Given the description of an element on the screen output the (x, y) to click on. 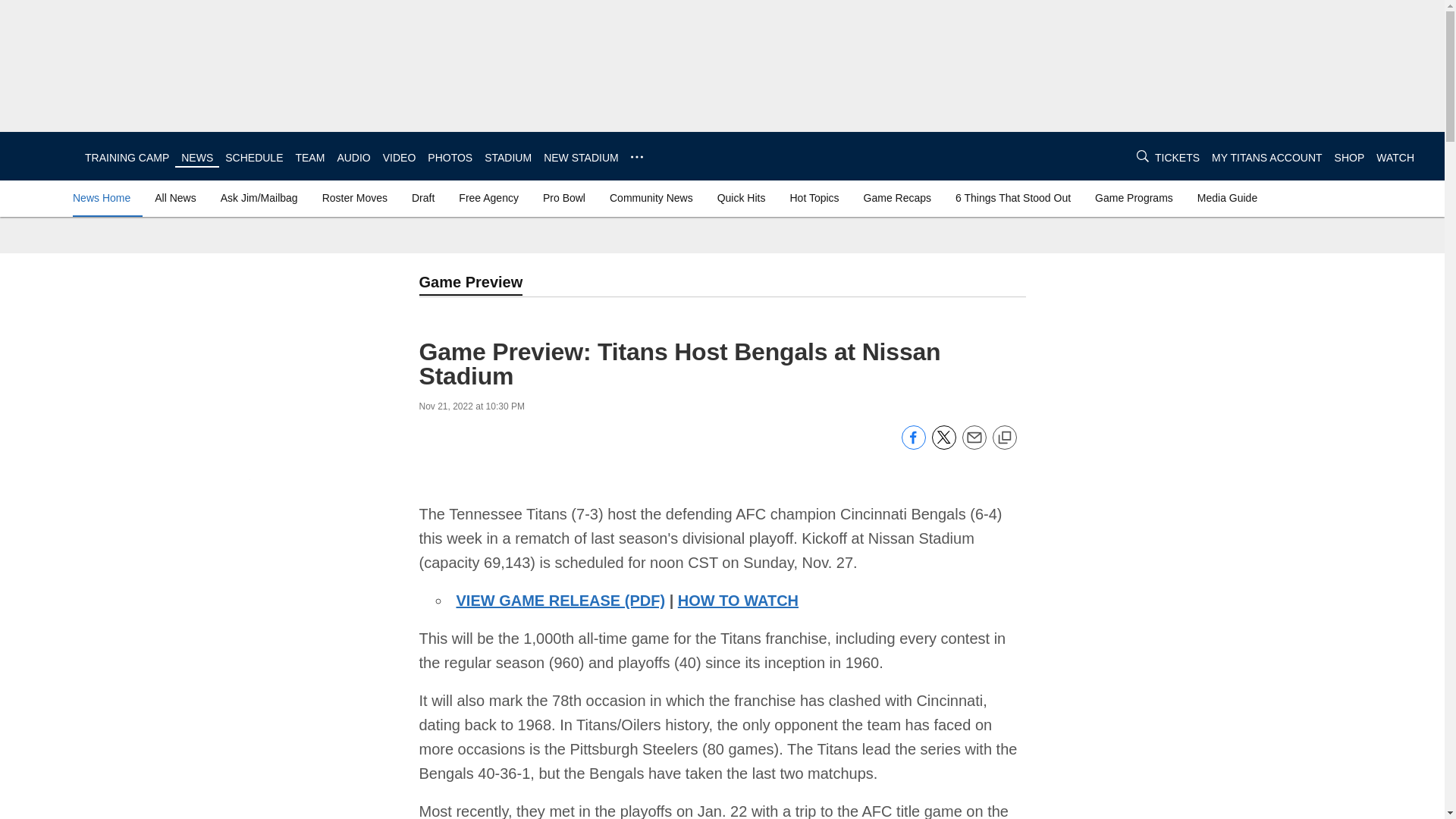
PHOTOS (449, 157)
TICKETS (1176, 157)
TEAM (309, 157)
TEAM (309, 157)
Roster Moves (354, 197)
SCHEDULE (253, 157)
Quick Hits (741, 197)
... (636, 156)
AUDIO (352, 157)
News Home (104, 197)
NEW STADIUM (580, 157)
VIDEO (399, 157)
WATCH (1394, 157)
VIDEO (399, 157)
All News (175, 197)
